Given the description of an element on the screen output the (x, y) to click on. 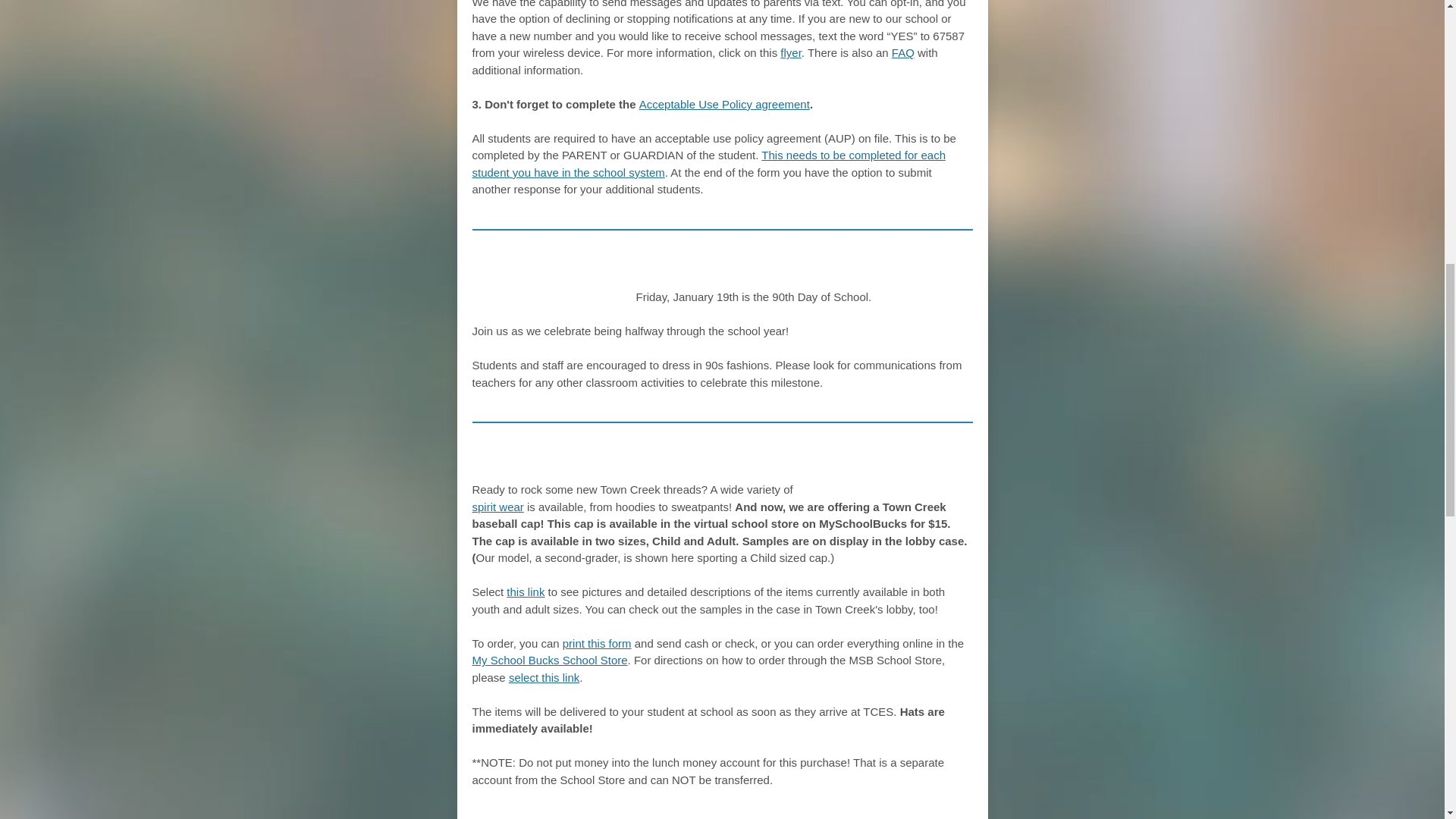
FAQ (902, 51)
select this link (543, 676)
Additions (560, 464)
this link (525, 591)
My School Bucks School Store (549, 659)
of (567, 270)
Day (537, 270)
Acceptable Use Policy agreement (724, 103)
Celebration! (693, 270)
New (493, 464)
spirit wear (496, 506)
School (609, 270)
print this form (596, 643)
to (616, 464)
